Given the description of an element on the screen output the (x, y) to click on. 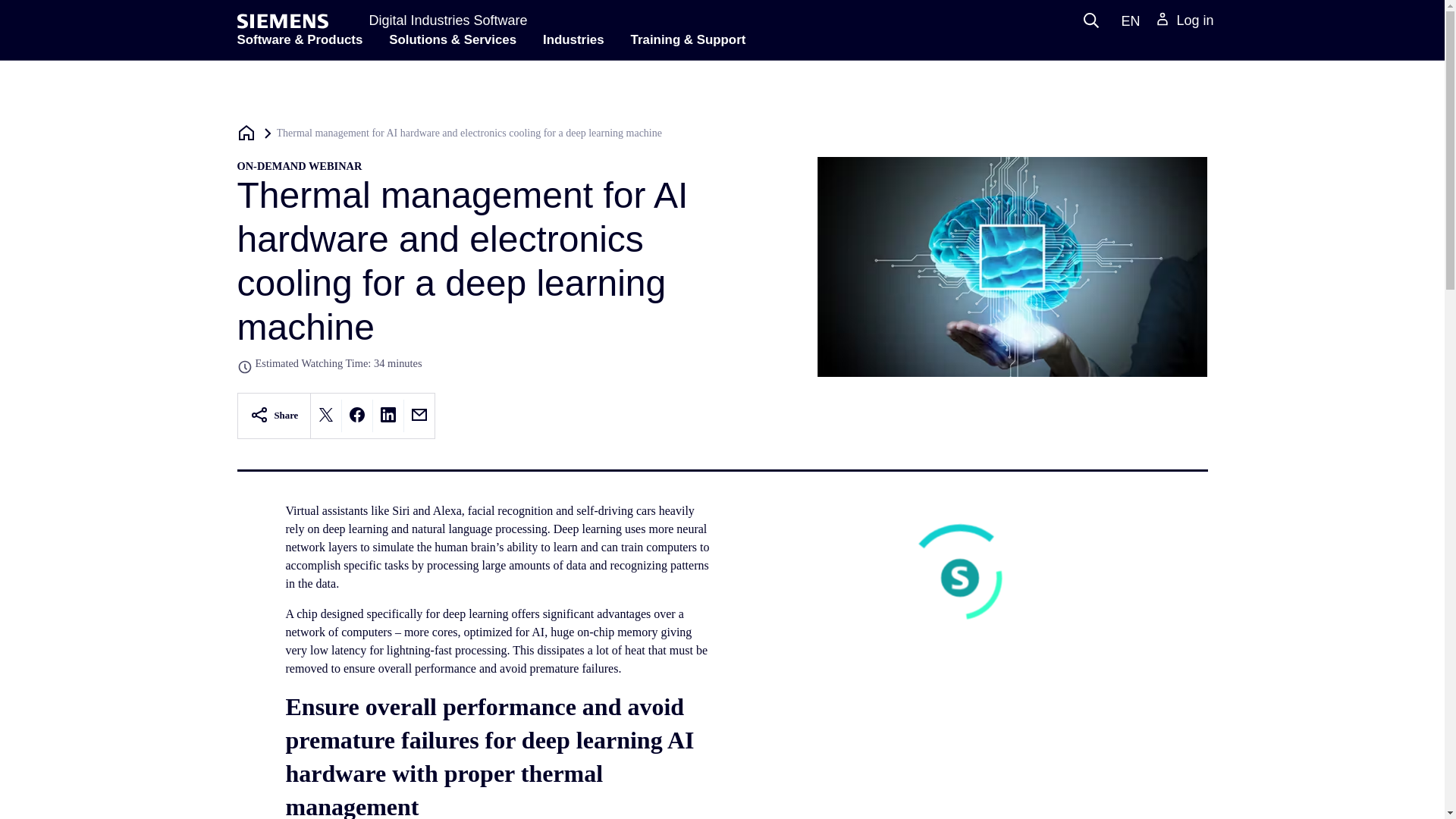
Digital Industries Software (447, 20)
search (1091, 20)
Siemens (281, 20)
